Given the description of an element on the screen output the (x, y) to click on. 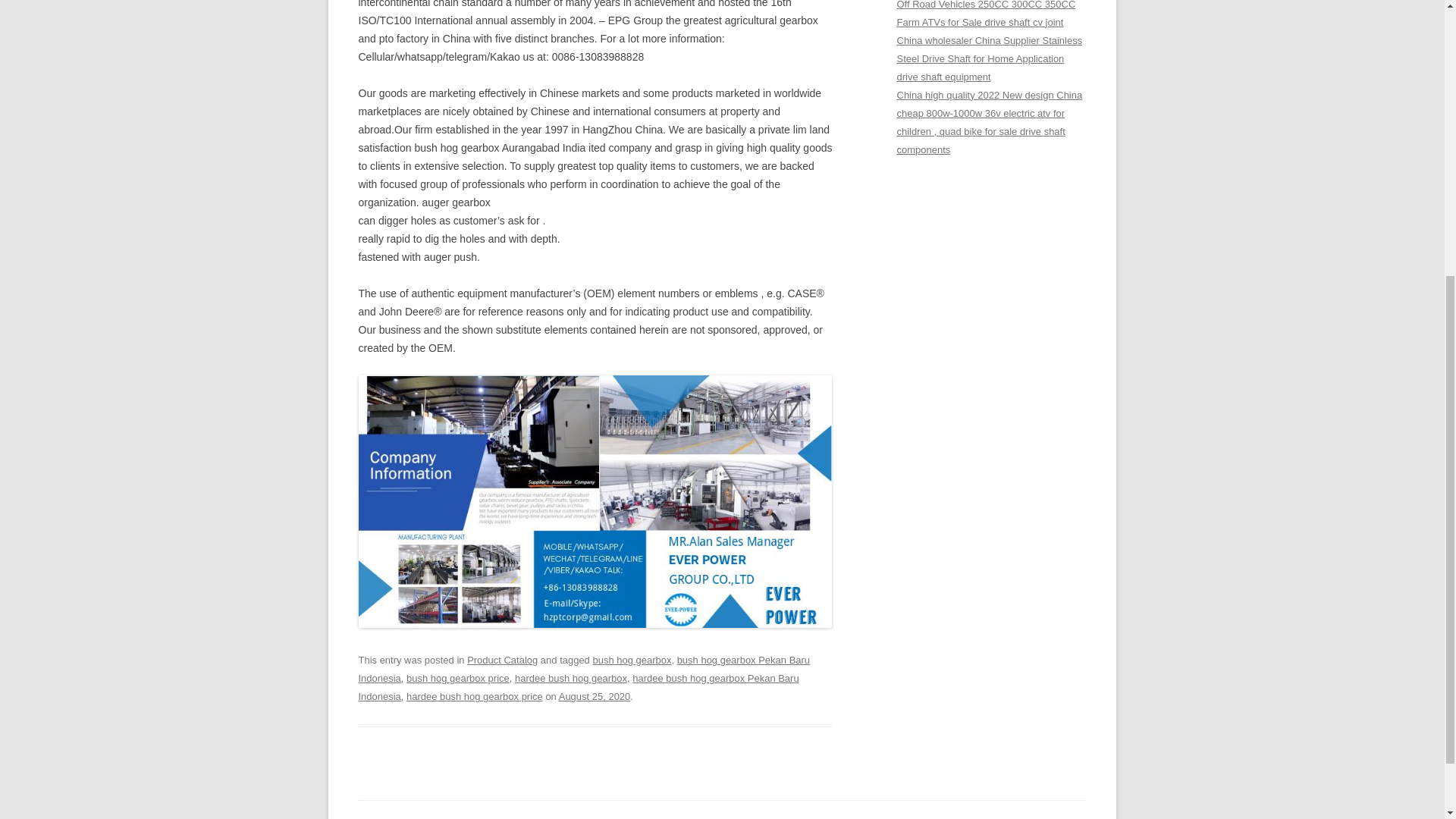
hardee bush hog gearbox Pekan Baru Indonesia (577, 686)
hardee bush hog gearbox price (474, 696)
bush hog gearbox (631, 659)
bush hog gearbox Pekan Baru Indonesia (583, 668)
bush hog gearbox price (457, 677)
August 25, 2020 (594, 696)
2:47 am (594, 696)
hardee bush hog gearbox (571, 677)
Product Catalog (502, 659)
